Given the description of an element on the screen output the (x, y) to click on. 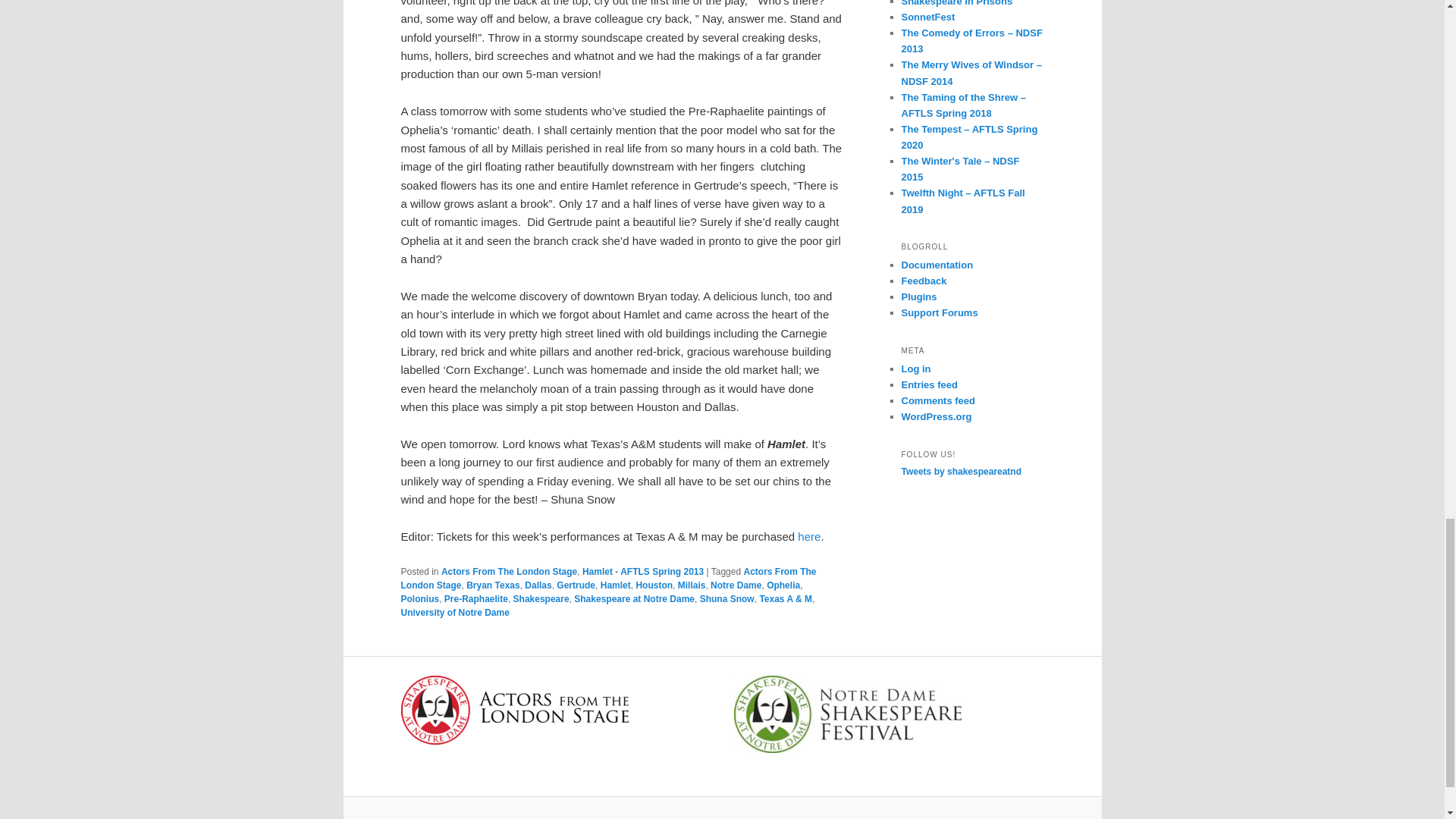
Actors From The London Stage (508, 571)
Shuna Snow (727, 598)
Shakespeare at Notre Dame (633, 598)
Notre Dame (735, 584)
Pre-Raphaelite (476, 598)
Millais (692, 584)
Bryan Texas (492, 584)
Hamlet (614, 584)
Actors From The London Stage (607, 578)
here (809, 535)
